Given the description of an element on the screen output the (x, y) to click on. 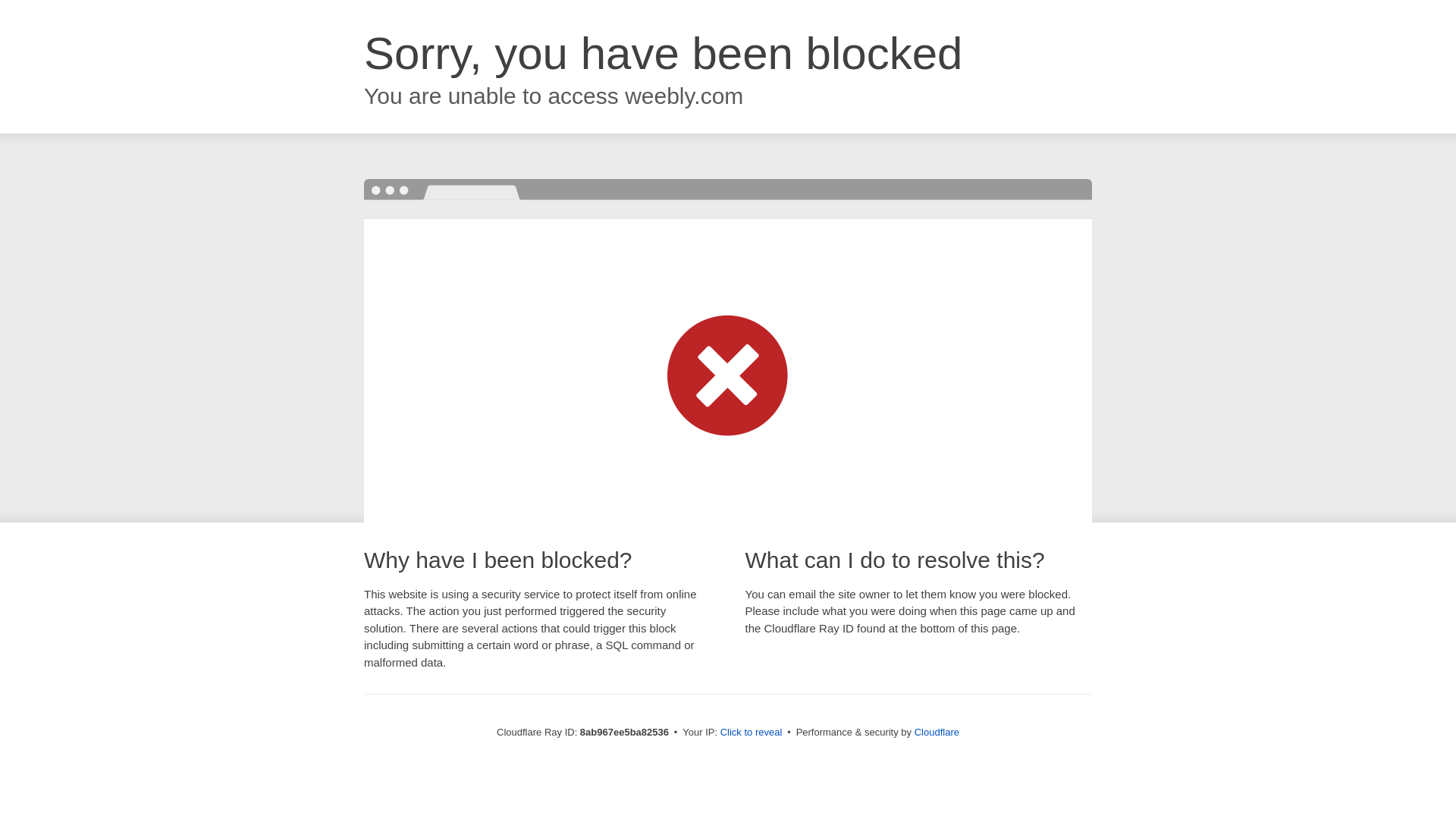
Click to reveal (751, 732)
Cloudflare (936, 731)
